Given the description of an element on the screen output the (x, y) to click on. 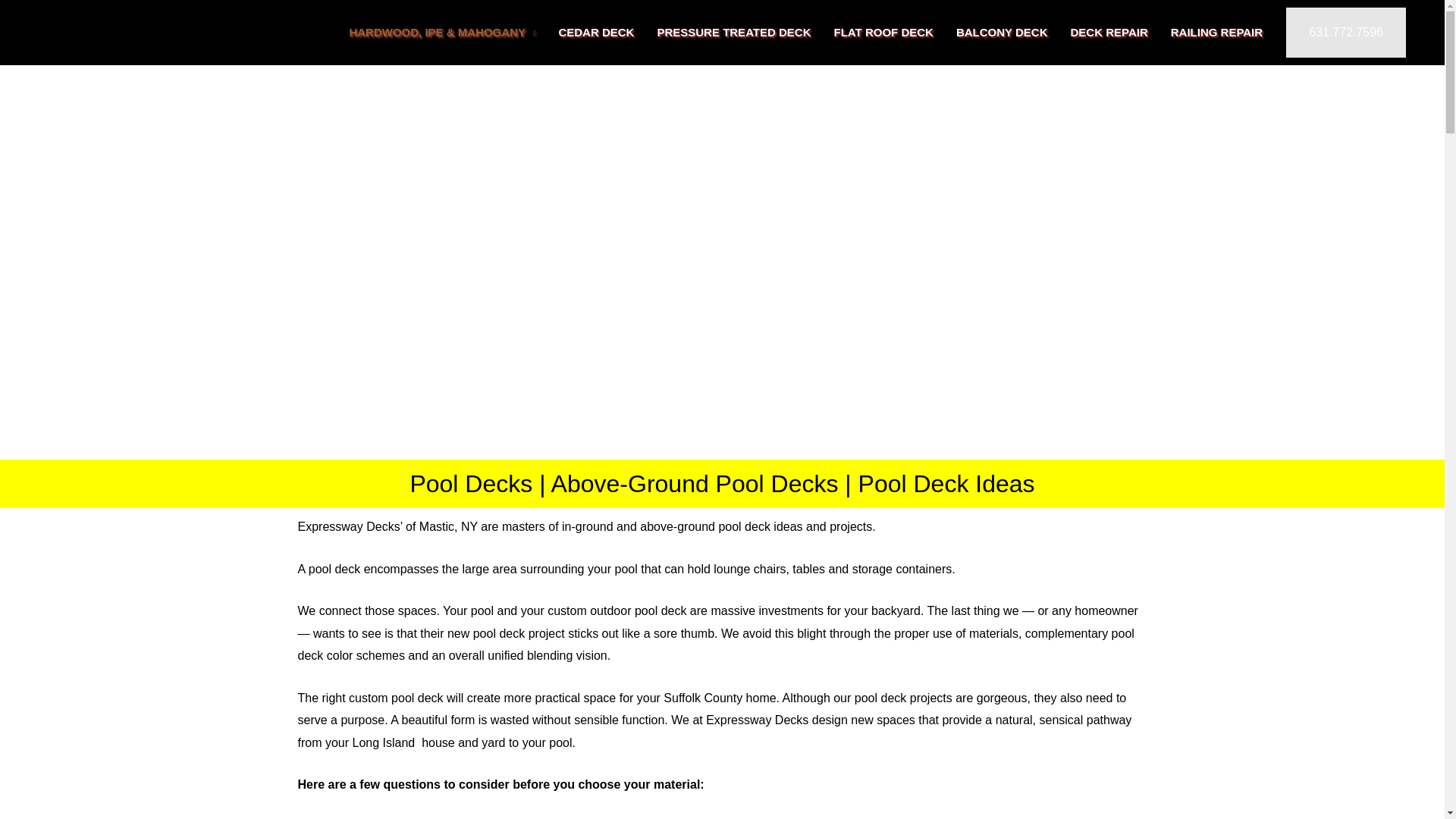
FLAT ROOF DECK (883, 32)
BALCONY DECK (1001, 32)
RAILING REPAIR (1216, 32)
CEDAR DECK (596, 32)
DECK REPAIR (1108, 32)
PRESSURE TREATED DECK (733, 32)
CALL EXPRESSWAY DECKS (721, 403)
631.772.7596 (1345, 32)
